Given the description of an element on the screen output the (x, y) to click on. 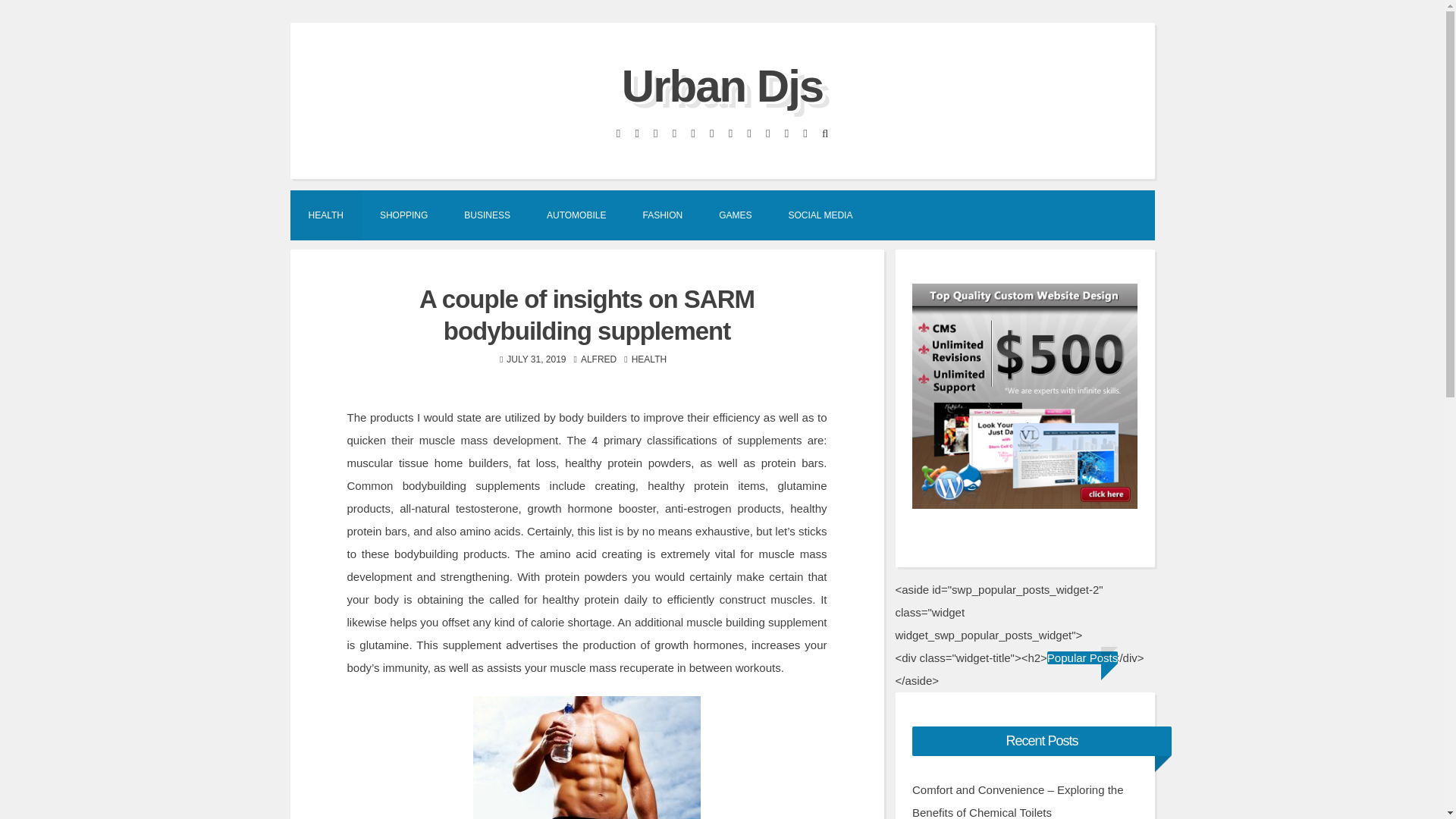
Urban Djs (721, 85)
SOCIAL MEDIA (820, 214)
HEALTH (648, 358)
ALFRED (597, 358)
BUSINESS (486, 214)
HEALTH (325, 214)
FASHION (662, 214)
GAMES (735, 214)
AUTOMOBILE (576, 214)
